Given the description of an element on the screen output the (x, y) to click on. 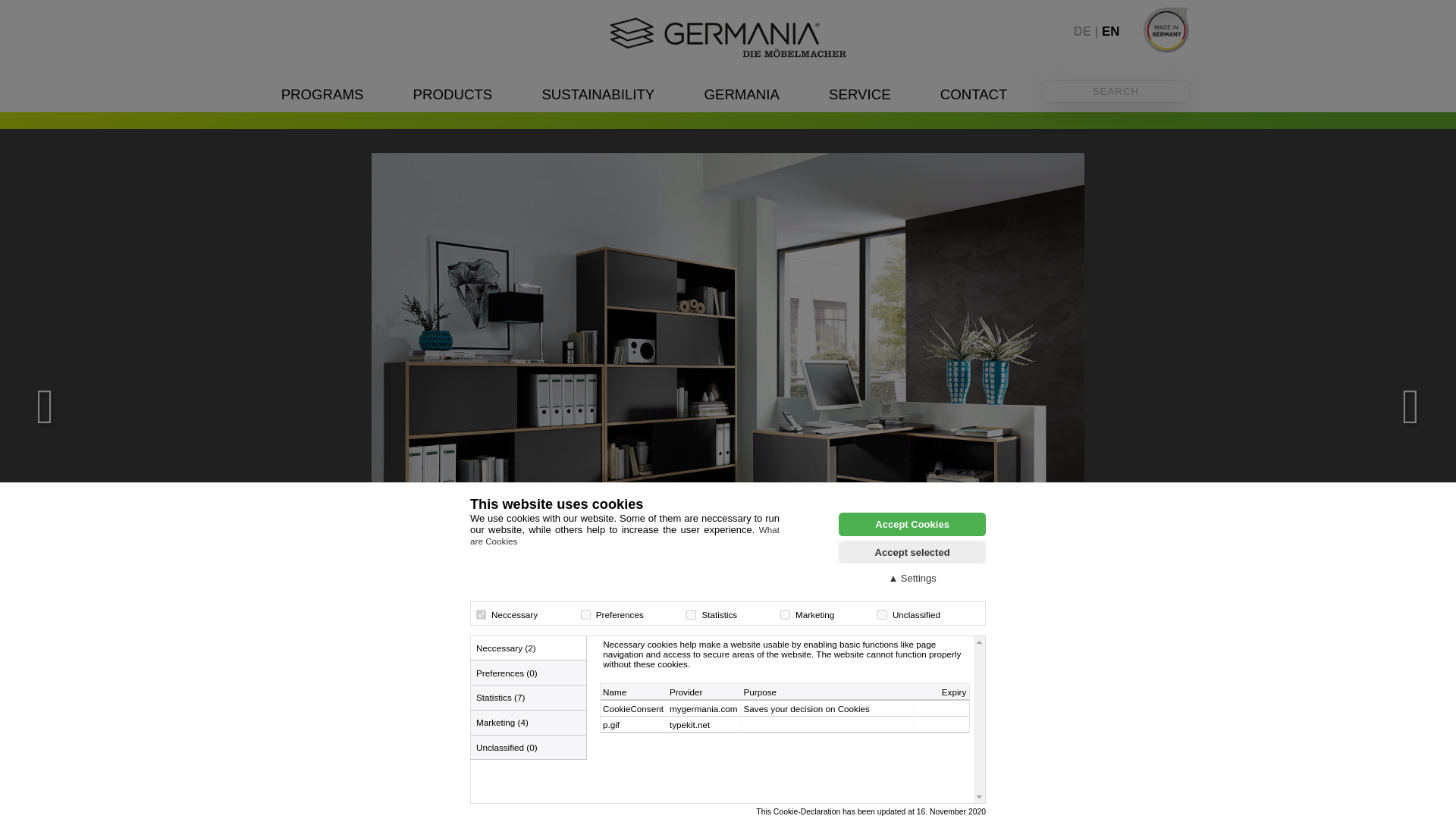
Germania (741, 94)
Programs (321, 94)
SERVICE (858, 94)
DE (1088, 31)
Service (858, 94)
on (881, 614)
on (585, 614)
GERMANIA (741, 94)
Contact (974, 94)
on (690, 614)
EN (1110, 31)
SUSTAINABILITY (597, 94)
Products (452, 94)
on (481, 614)
sustainability (597, 94)
